Given the description of an element on the screen output the (x, y) to click on. 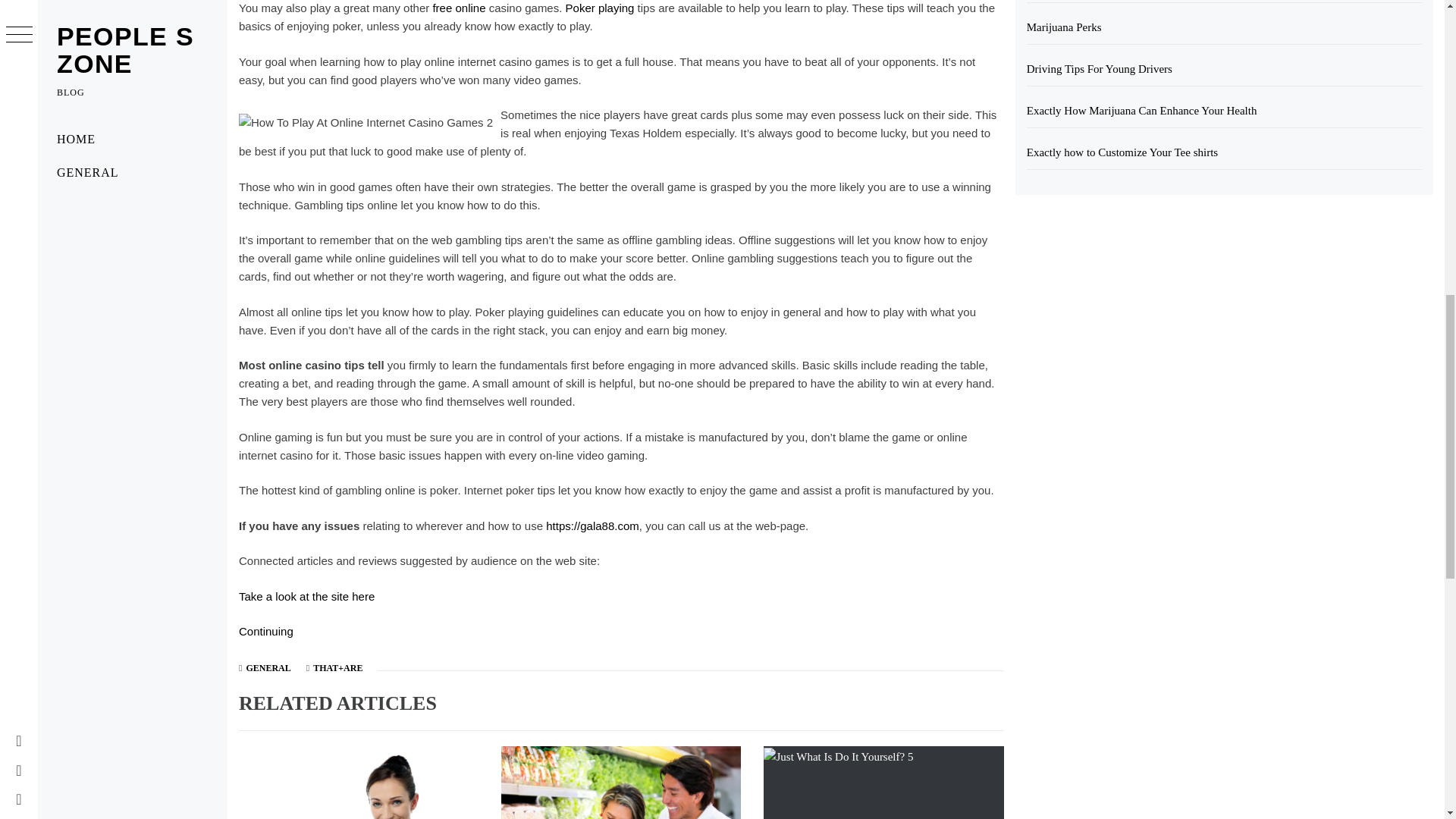
free online (458, 7)
Continuing (266, 631)
GENERAL (267, 667)
Poker playing (600, 7)
Take a look at the site here (306, 595)
